Given the description of an element on the screen output the (x, y) to click on. 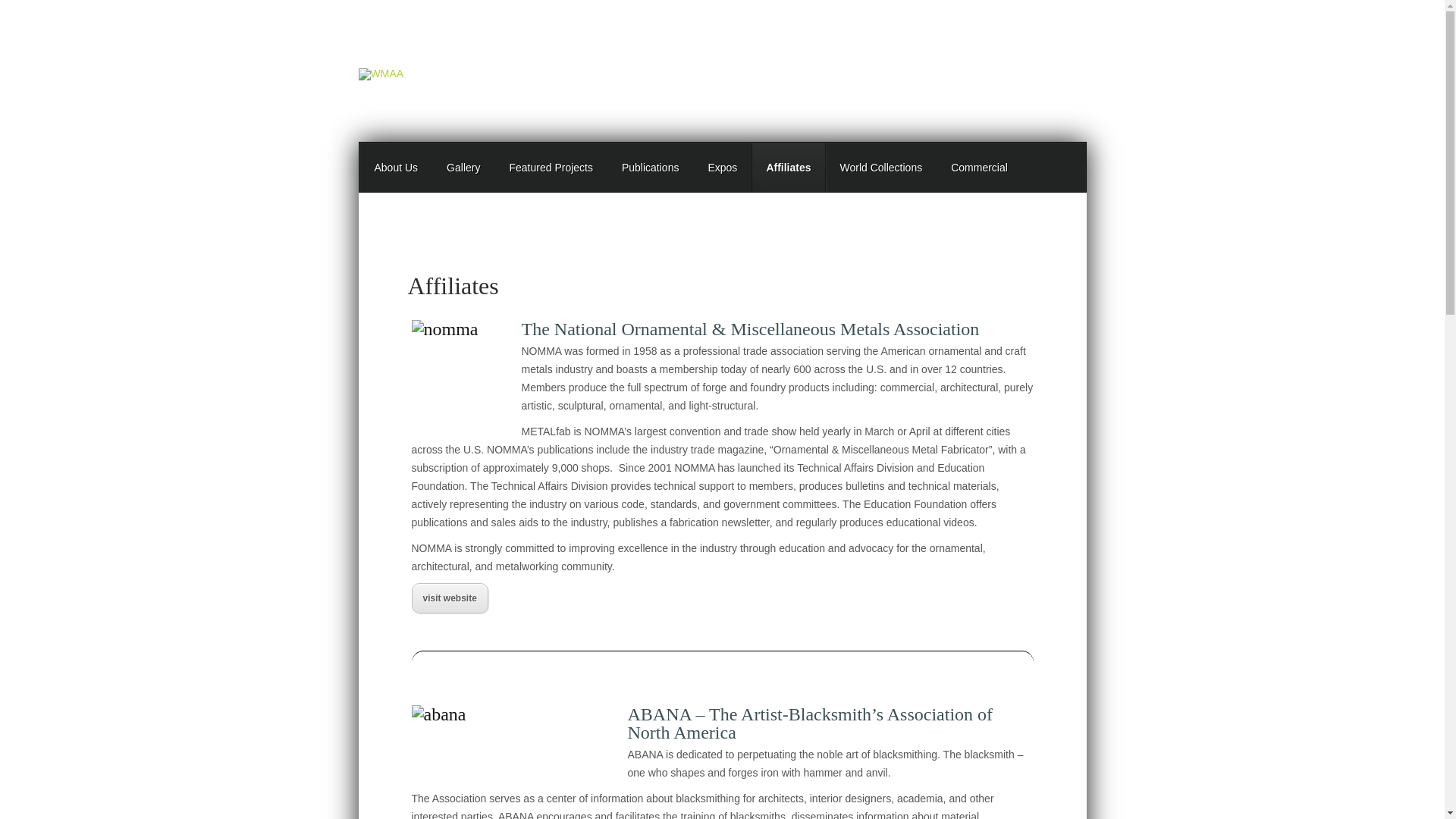
Expos (722, 167)
Gallery (463, 167)
About Us (395, 167)
visit website (448, 598)
Commercial (979, 167)
Affiliates (788, 167)
Publications (650, 167)
World Collections (880, 167)
Featured Projects (551, 167)
